Given the description of an element on the screen output the (x, y) to click on. 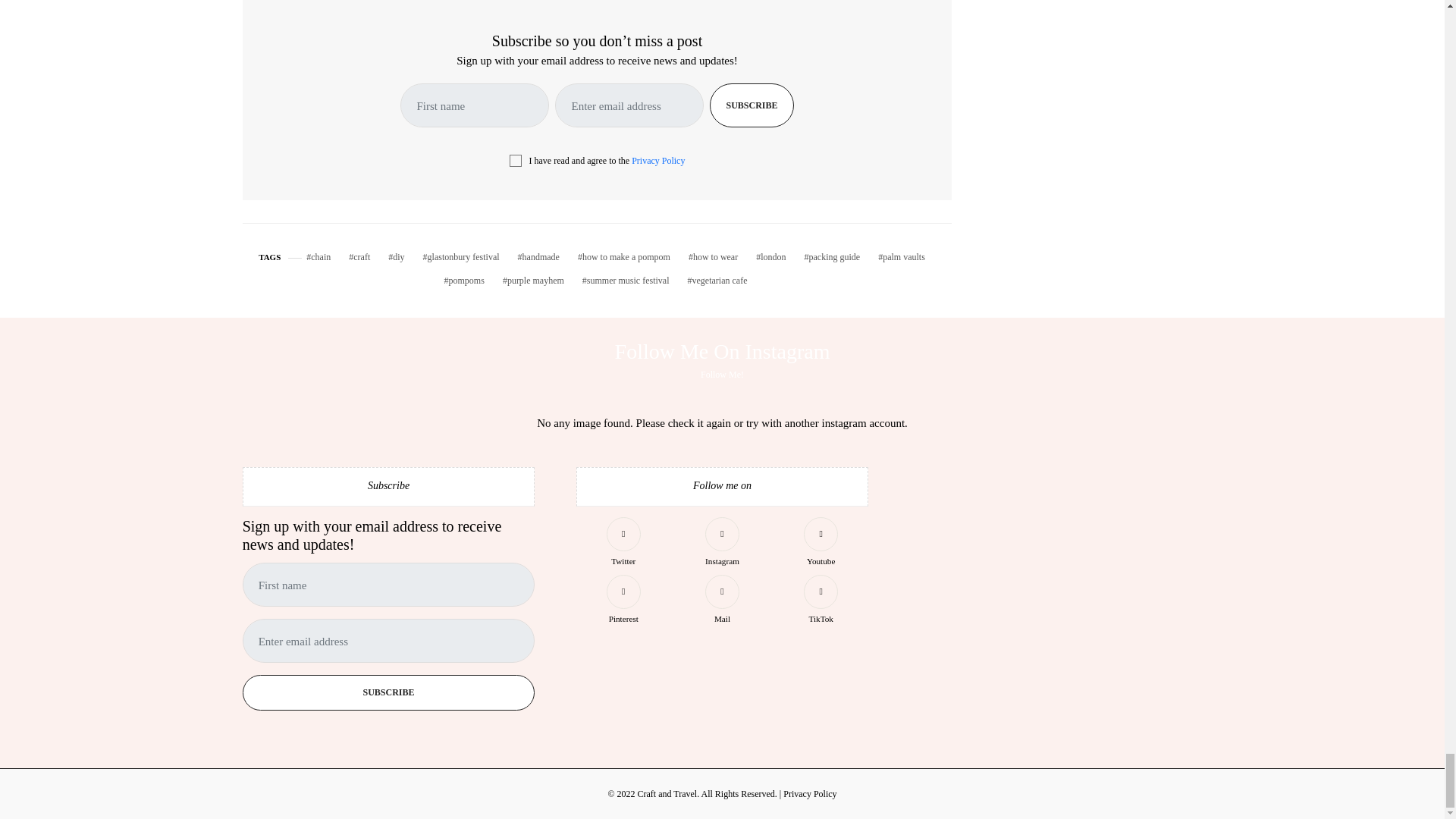
Subscribe (389, 692)
Subscribe (751, 105)
